Given the description of an element on the screen output the (x, y) to click on. 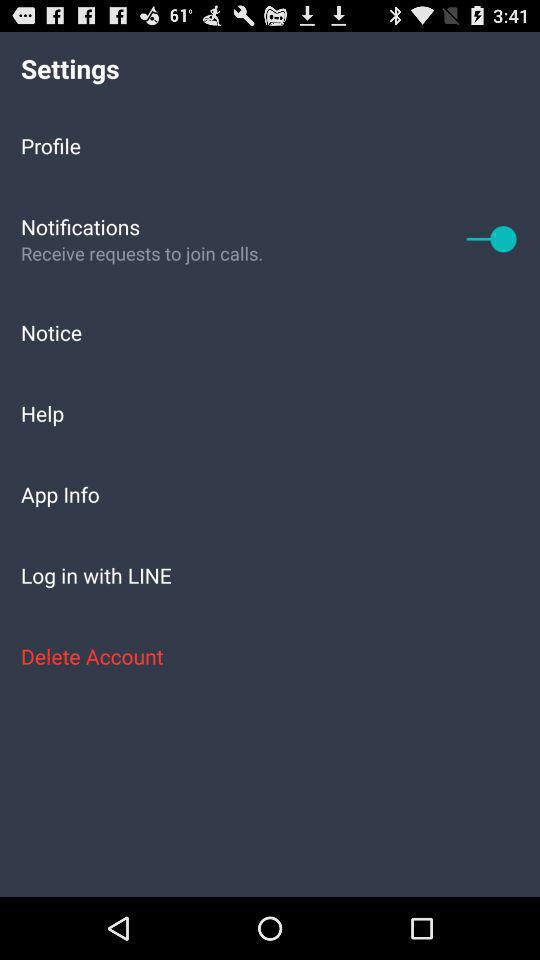
tap the icon at the top right corner (492, 238)
